Given the description of an element on the screen output the (x, y) to click on. 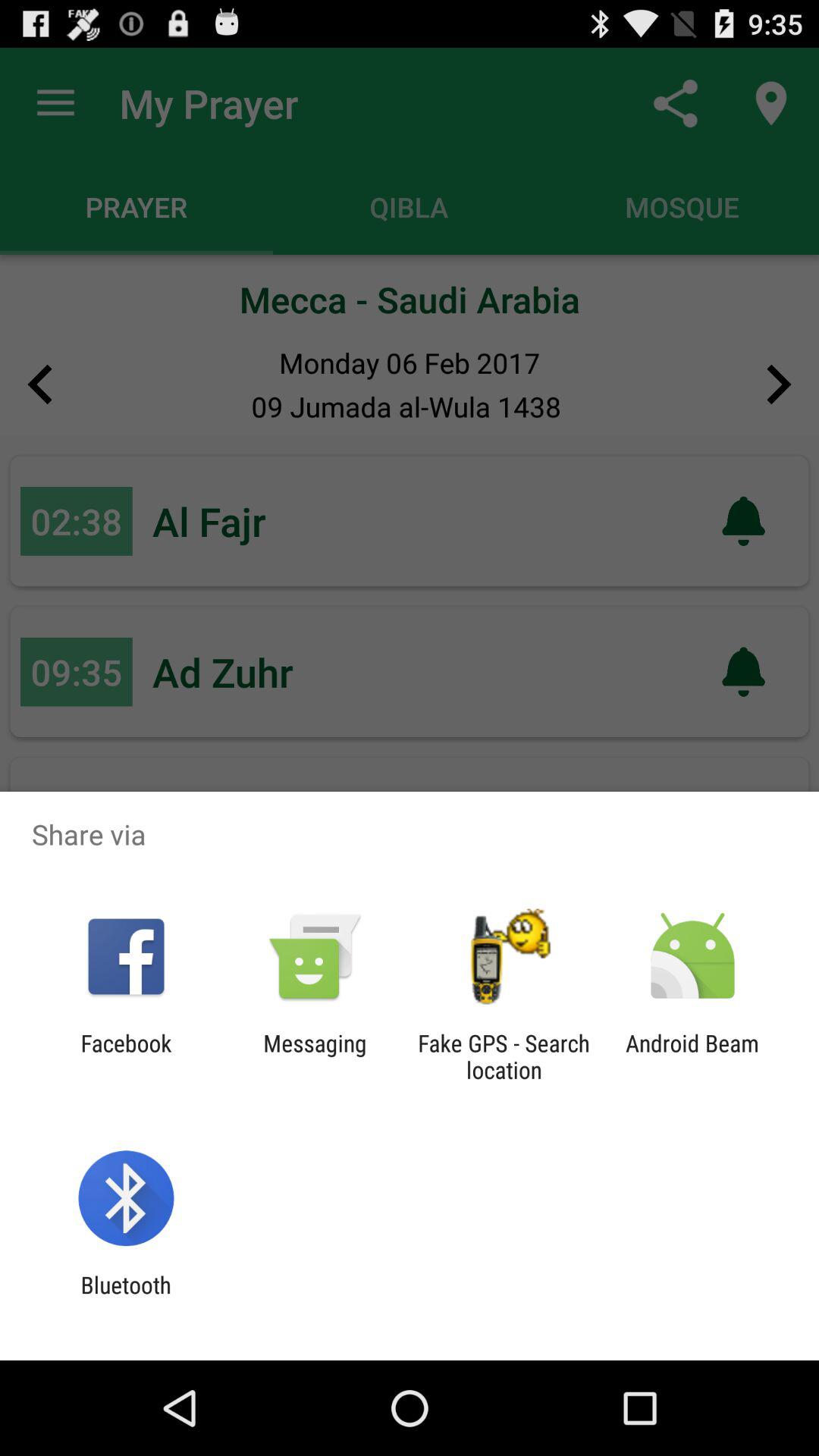
tap the fake gps search app (503, 1056)
